Given the description of an element on the screen output the (x, y) to click on. 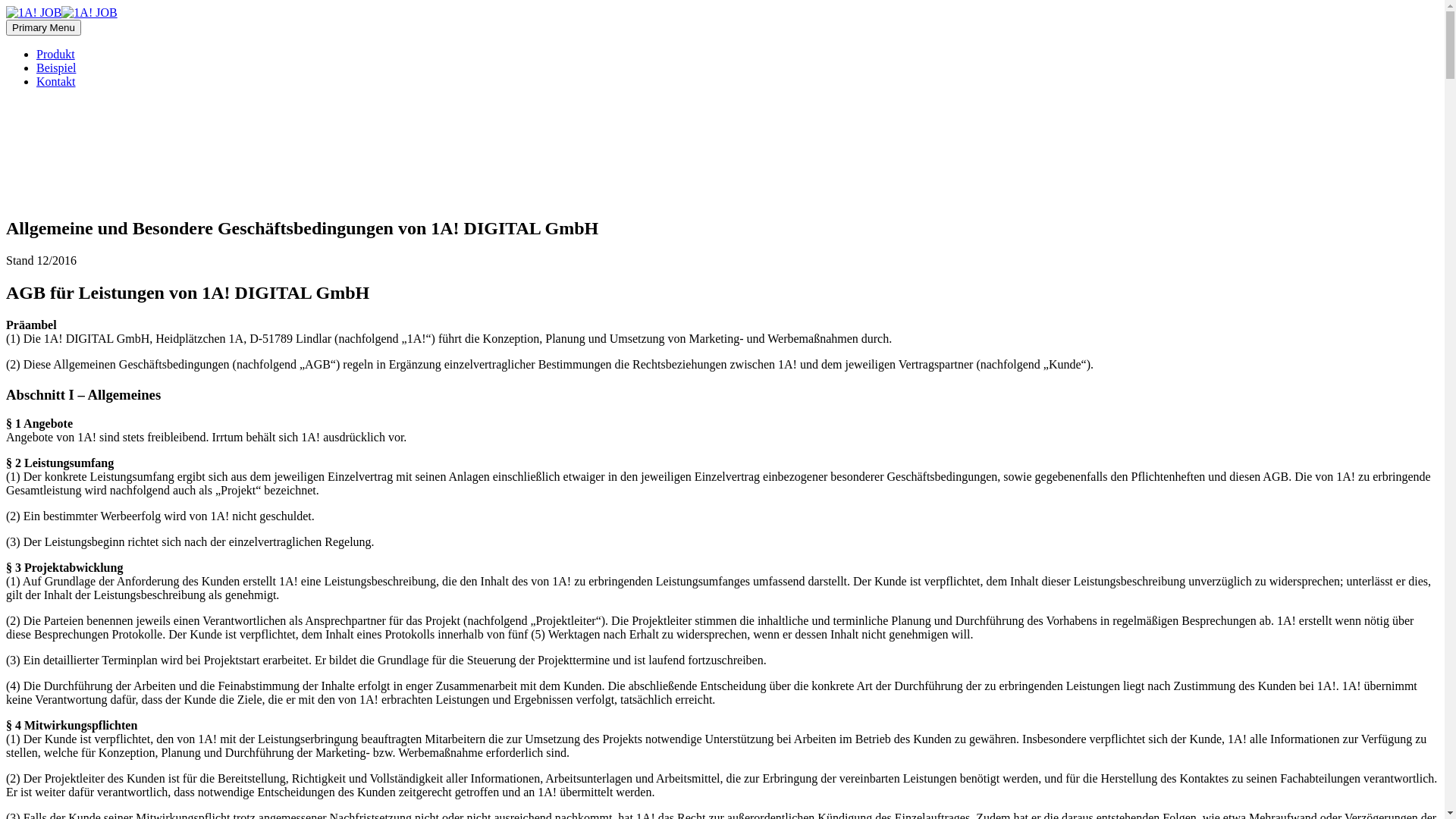
Kontakt Element type: text (55, 81)
Primary Menu Element type: text (43, 27)
Beispiel Element type: text (55, 67)
Produkt Element type: text (55, 53)
